Given the description of an element on the screen output the (x, y) to click on. 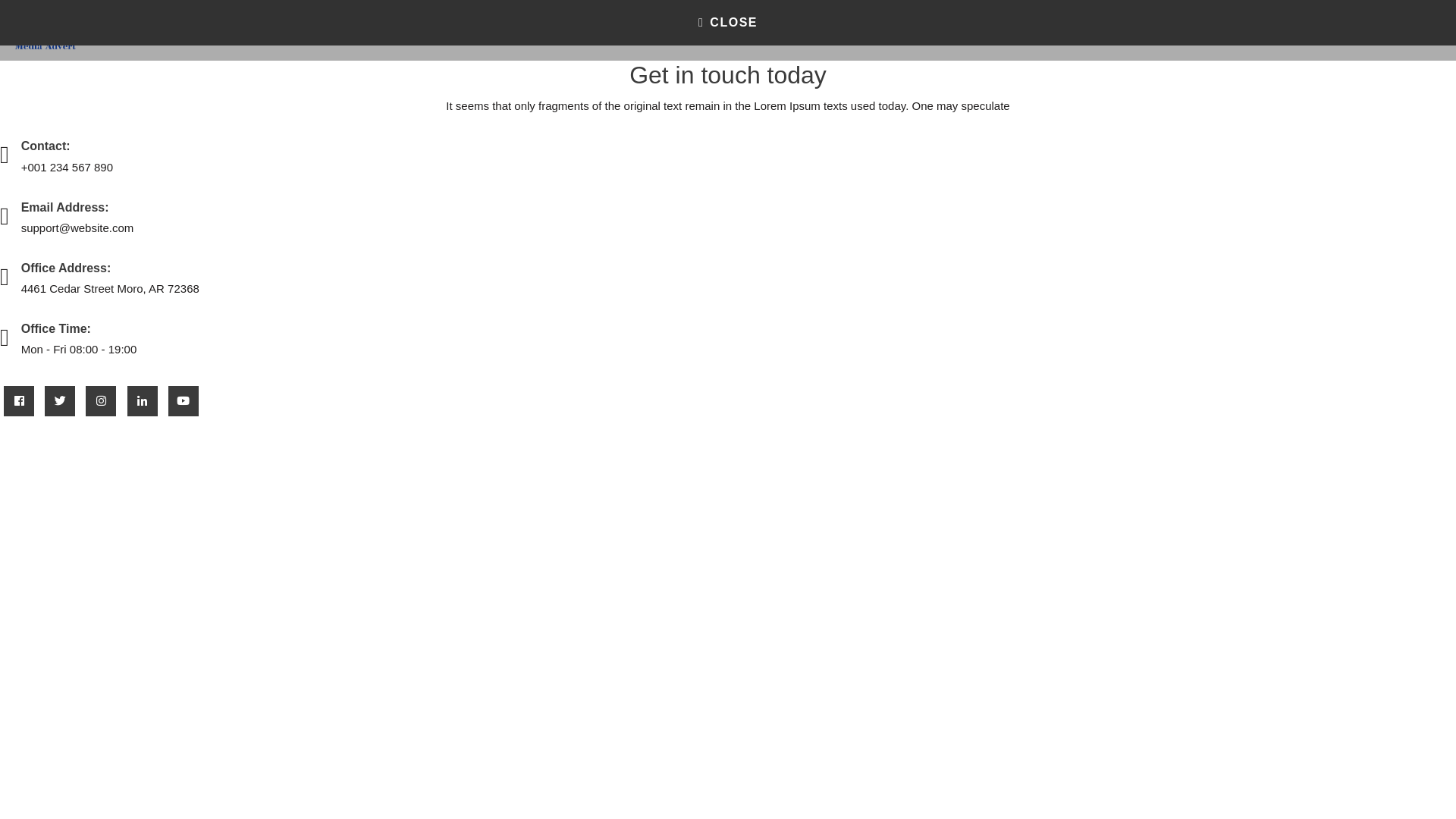
PRICING MODEL Element type: text (951, 28)
WHY CHOOSE US Element type: text (1150, 28)
CONTACT US Element type: text (1347, 28)
SERVICES Element type: text (1251, 28)
ABOUT US Element type: text (1049, 28)
HOME
(current) Element type: text (865, 28)
